Given the description of an element on the screen output the (x, y) to click on. 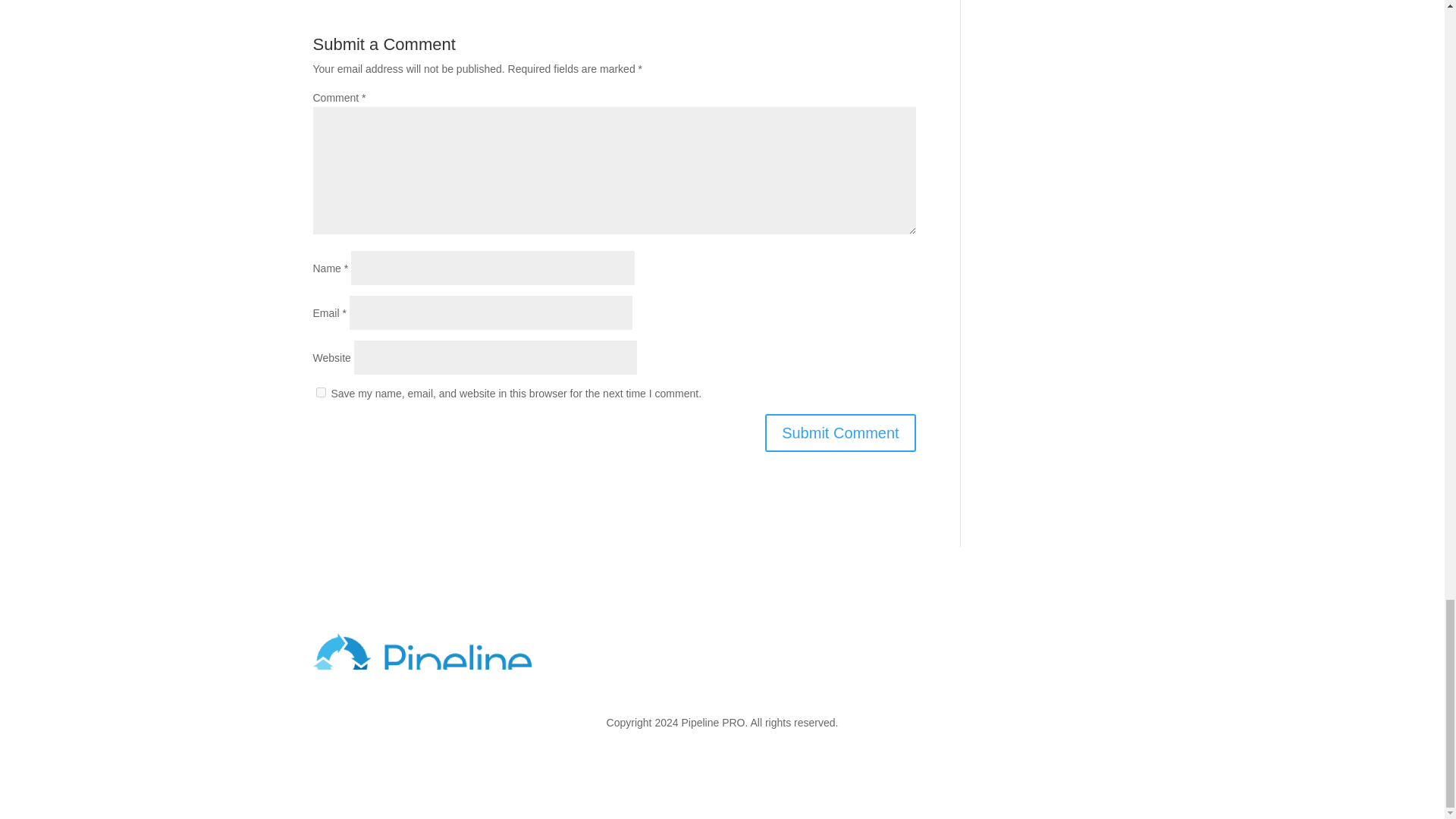
yes (319, 392)
Submit Comment (840, 433)
